Given the description of an element on the screen output the (x, y) to click on. 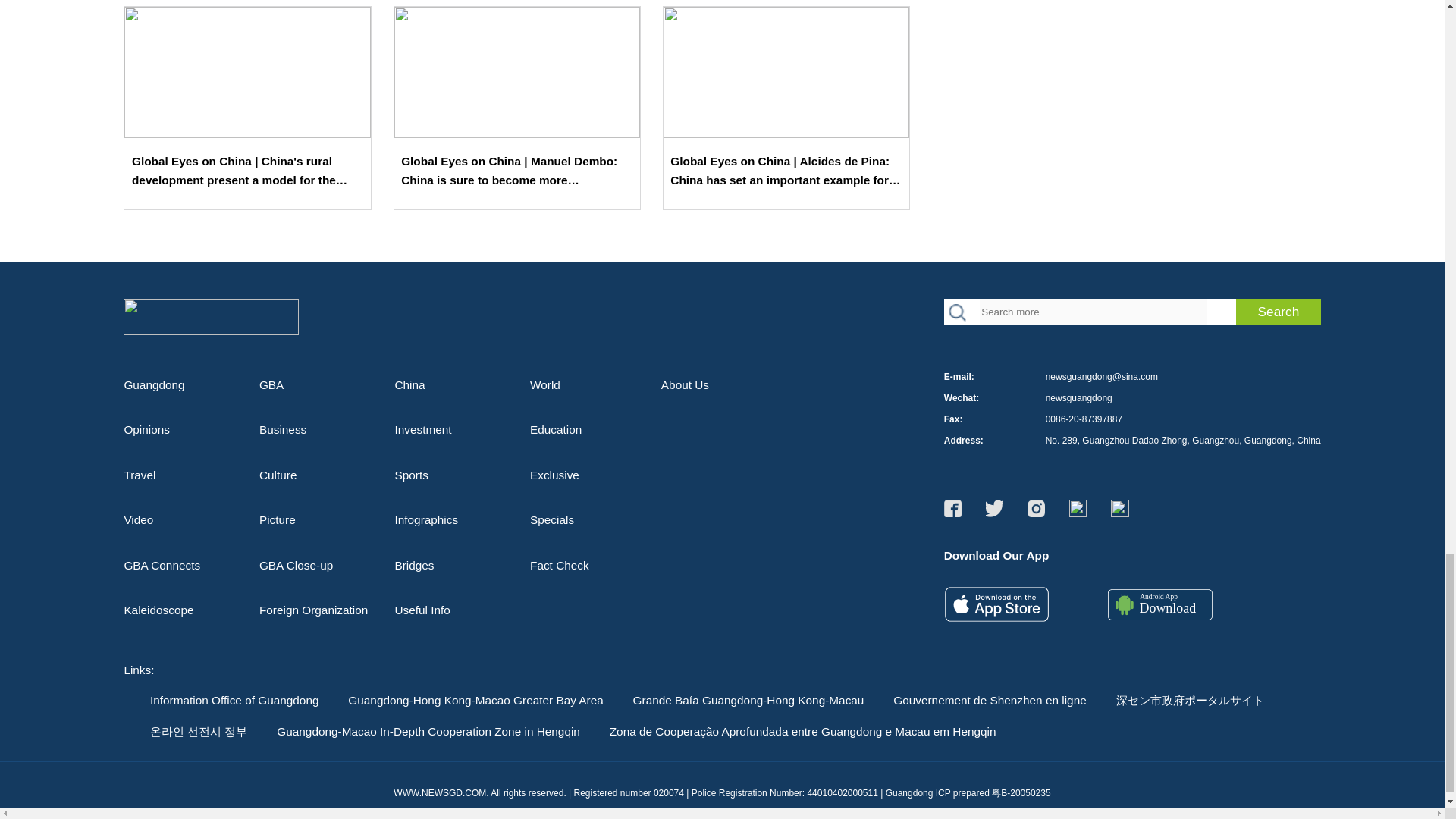
Download Our App  (1160, 606)
Download Our App  (996, 605)
